Given the description of an element on the screen output the (x, y) to click on. 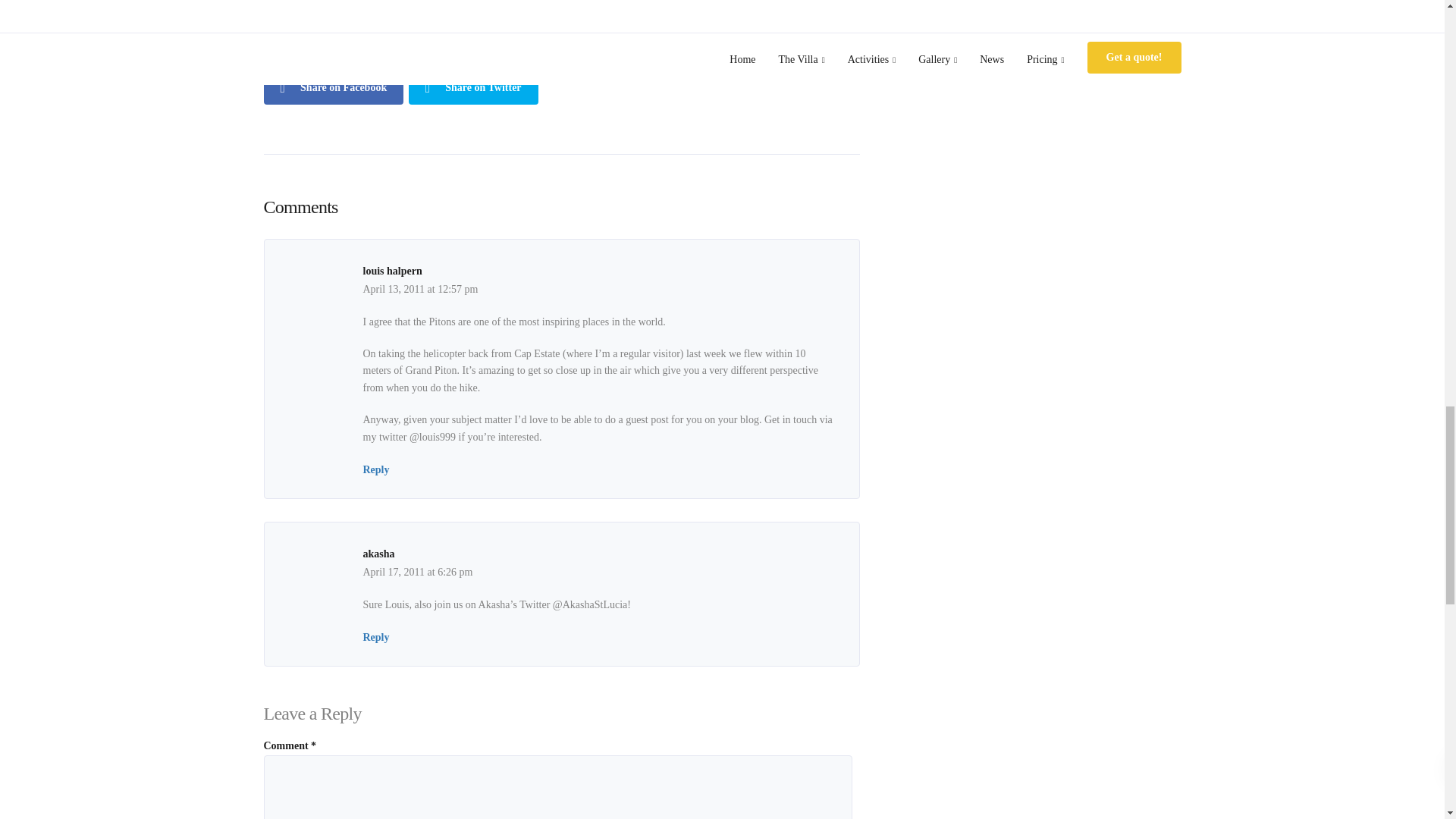
Oprah Winfrey (543, 28)
Caribbean Spa (328, 28)
Villa rental (696, 28)
Le Sport (478, 28)
Share on Facebook (333, 86)
Piton (600, 28)
St Lucia (642, 28)
Caribbean Villas (410, 28)
